Given the description of an element on the screen output the (x, y) to click on. 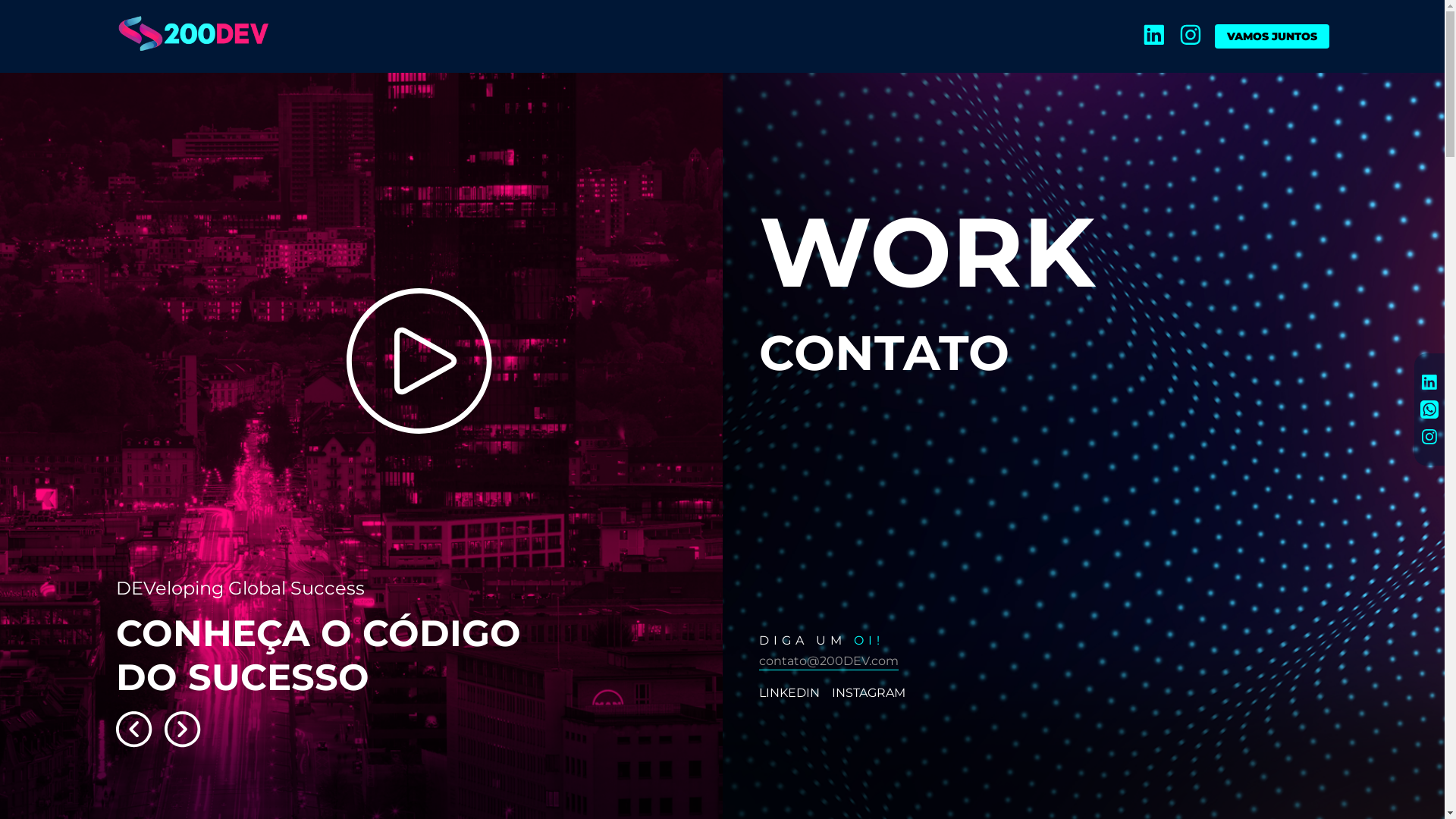
VAMOS JUNTOS Element type: text (1271, 36)
CONTATO Element type: text (926, 352)
LINKEDIN Element type: text (788, 692)
INSTAGRAM Element type: text (867, 692)
contato@200DEV.com Element type: text (827, 661)
WORK Element type: text (926, 251)
